Given the description of an element on the screen output the (x, y) to click on. 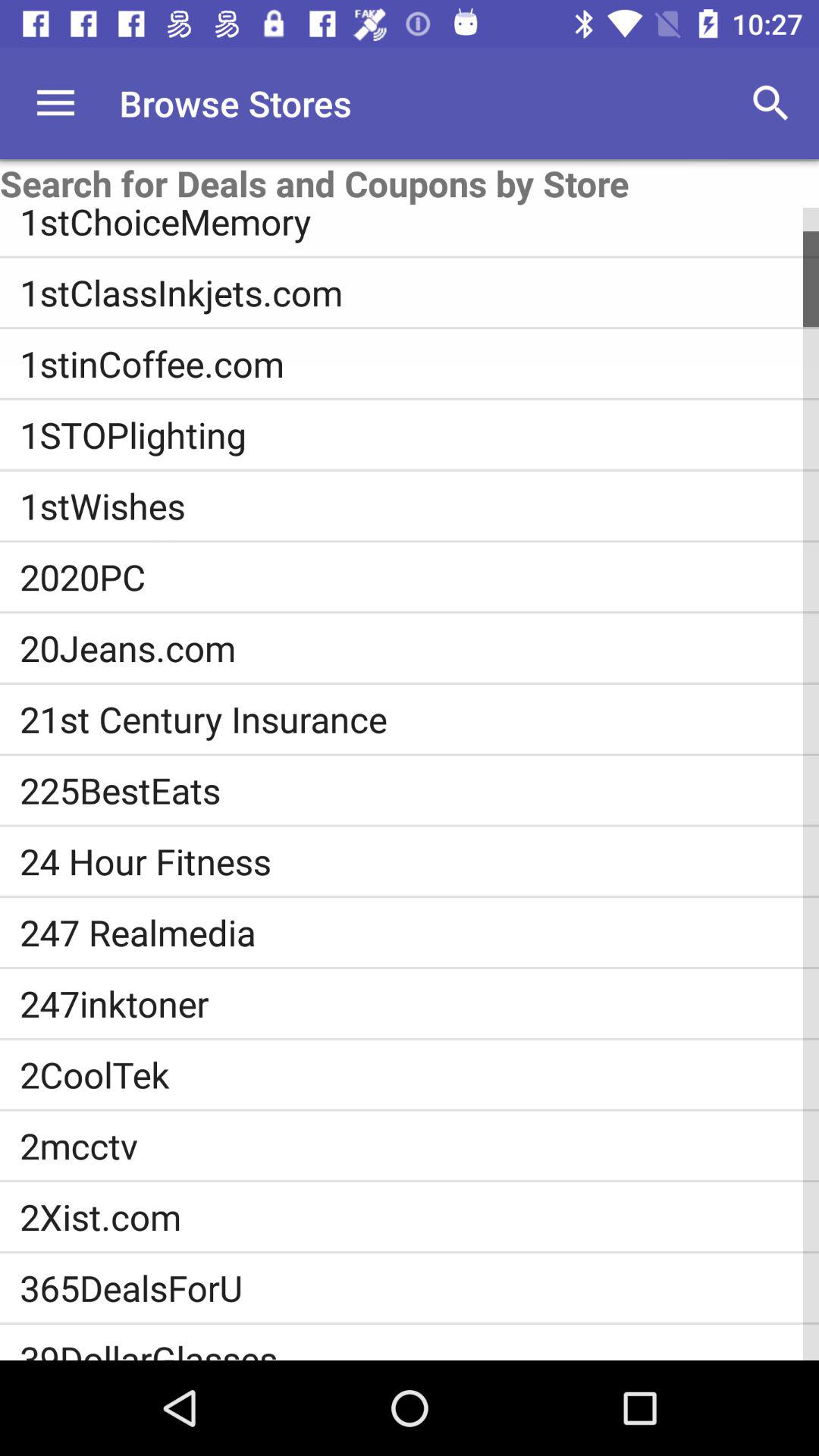
open the icon above 225besteats item (419, 719)
